Given the description of an element on the screen output the (x, y) to click on. 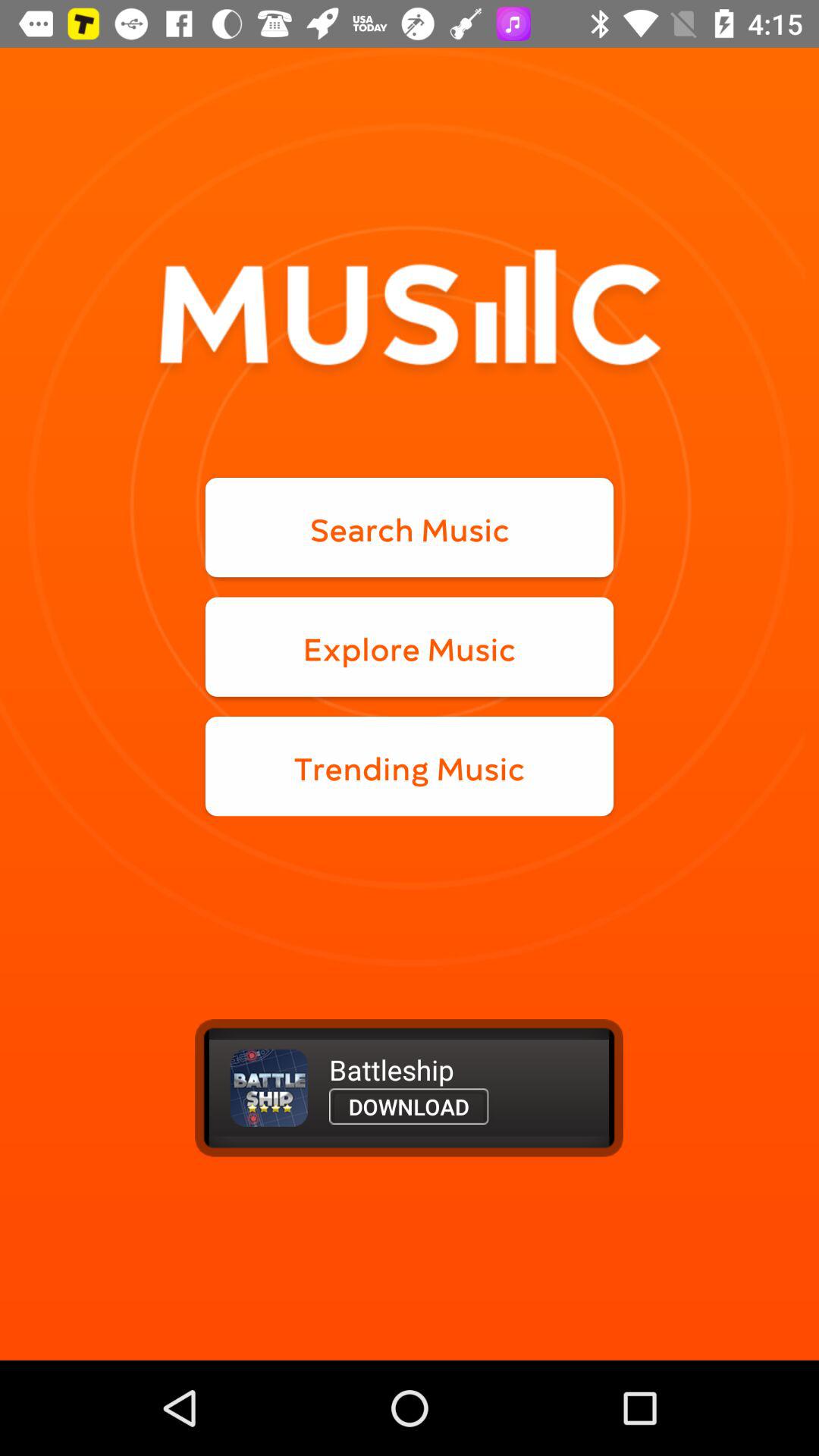
launch item below the battleship icon (408, 1106)
